Given the description of an element on the screen output the (x, y) to click on. 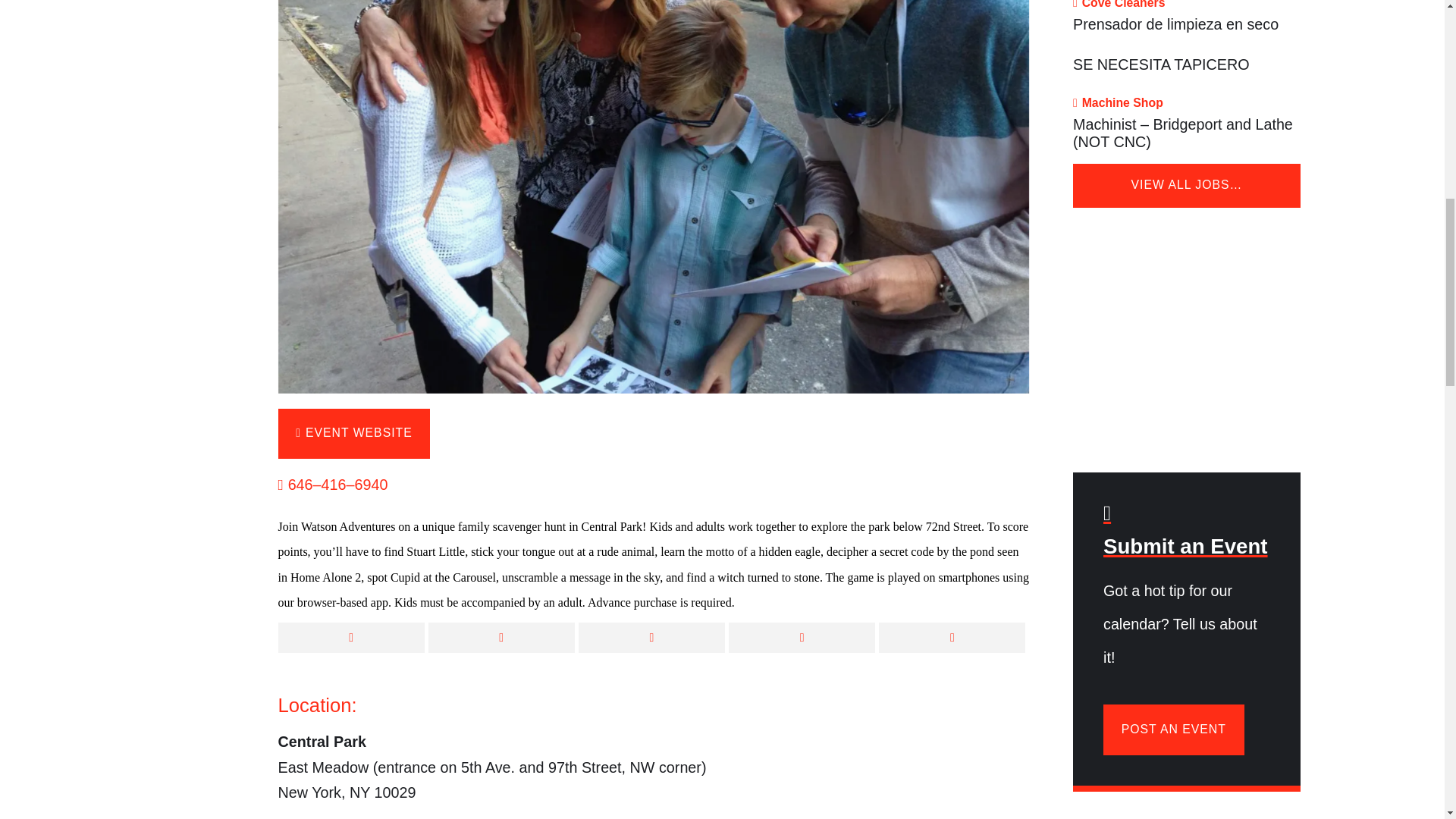
New York (359, 791)
Central Park (321, 741)
